Given the description of an element on the screen output the (x, y) to click on. 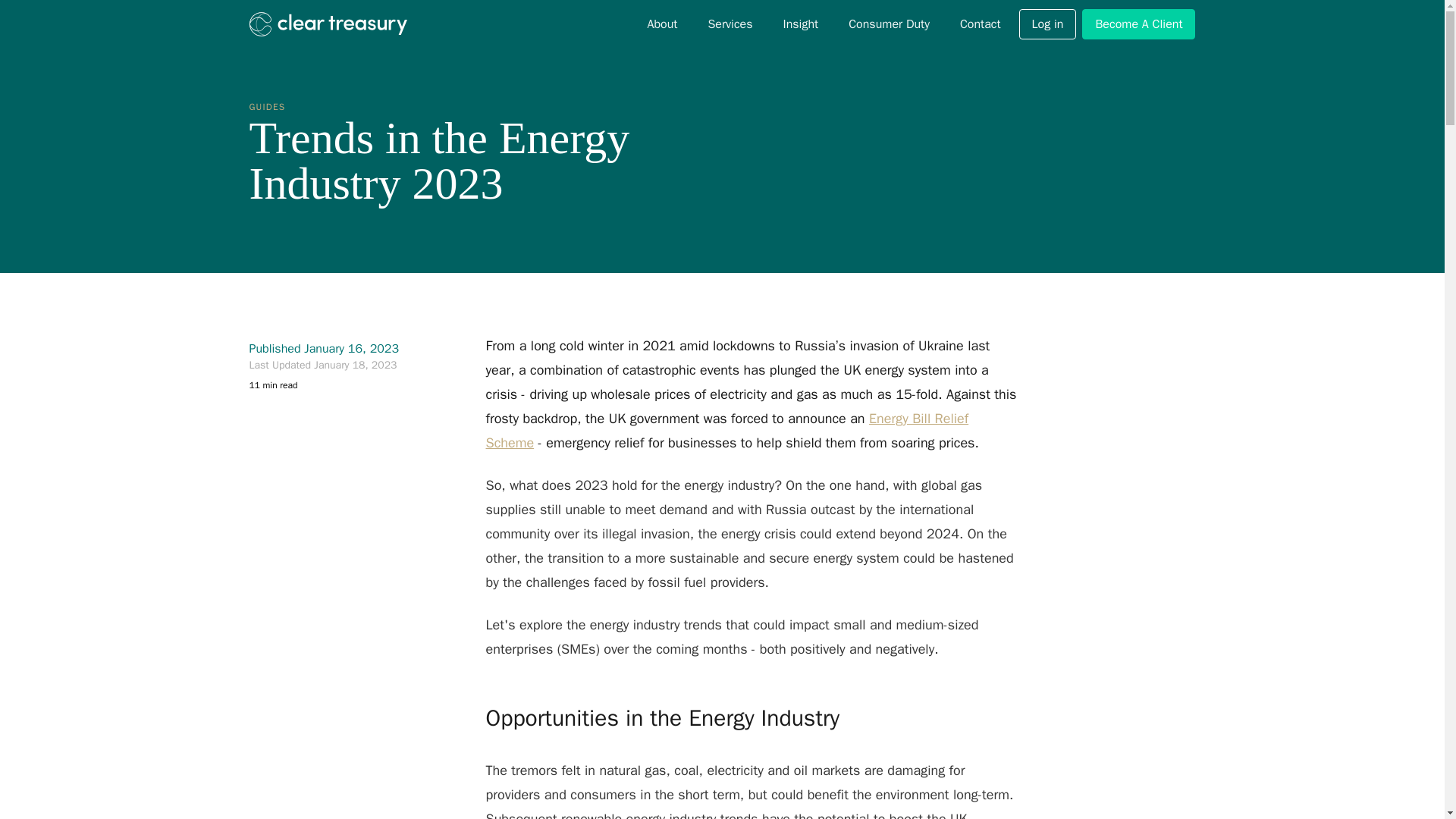
Log in (1048, 24)
Become A Client (1138, 24)
Insight (801, 24)
Consumer Duty (888, 24)
Energy Bill Relief Scheme (726, 430)
Contact (980, 24)
About (661, 24)
